Given the description of an element on the screen output the (x, y) to click on. 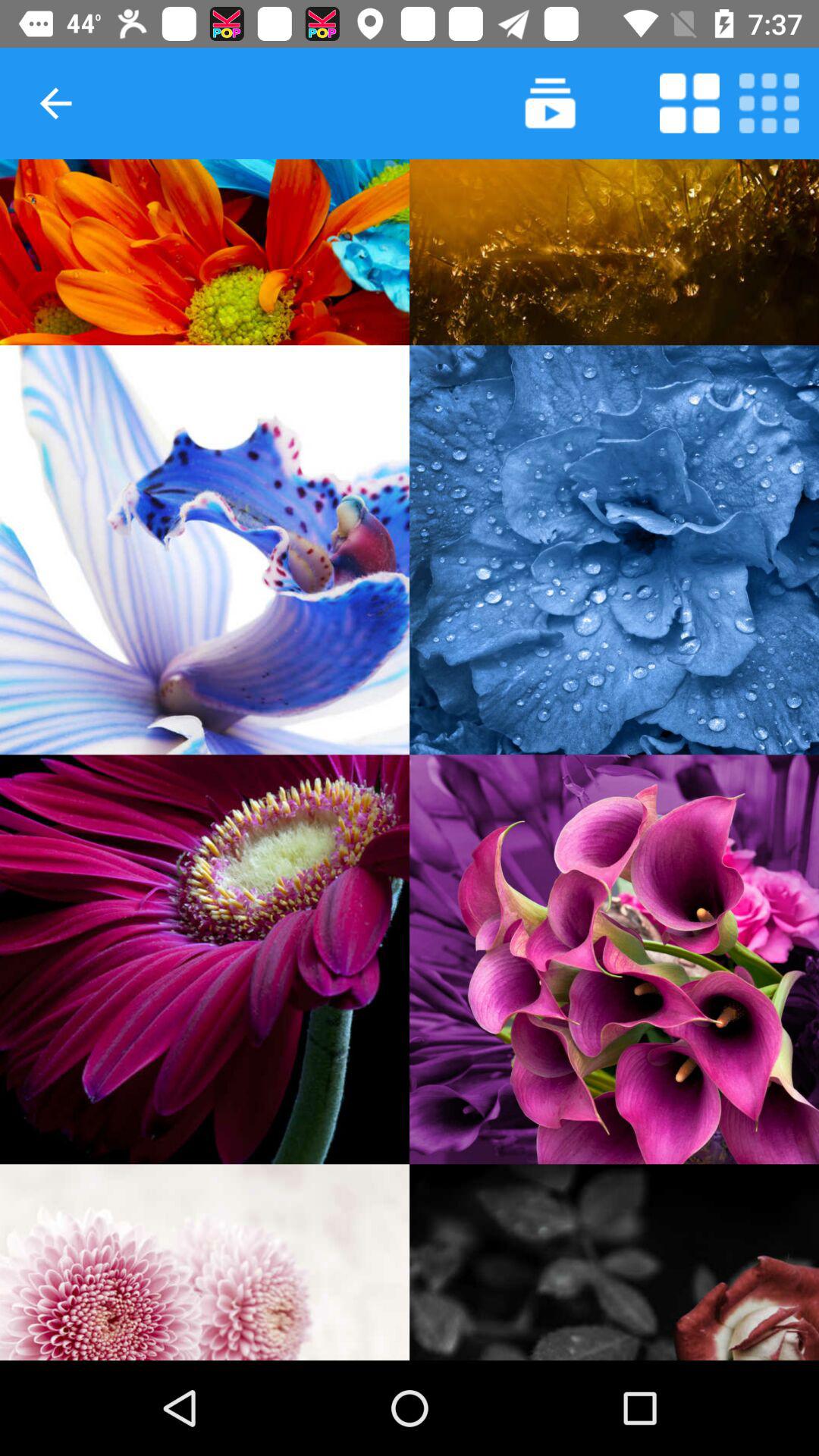
open image (204, 252)
